Given the description of an element on the screen output the (x, y) to click on. 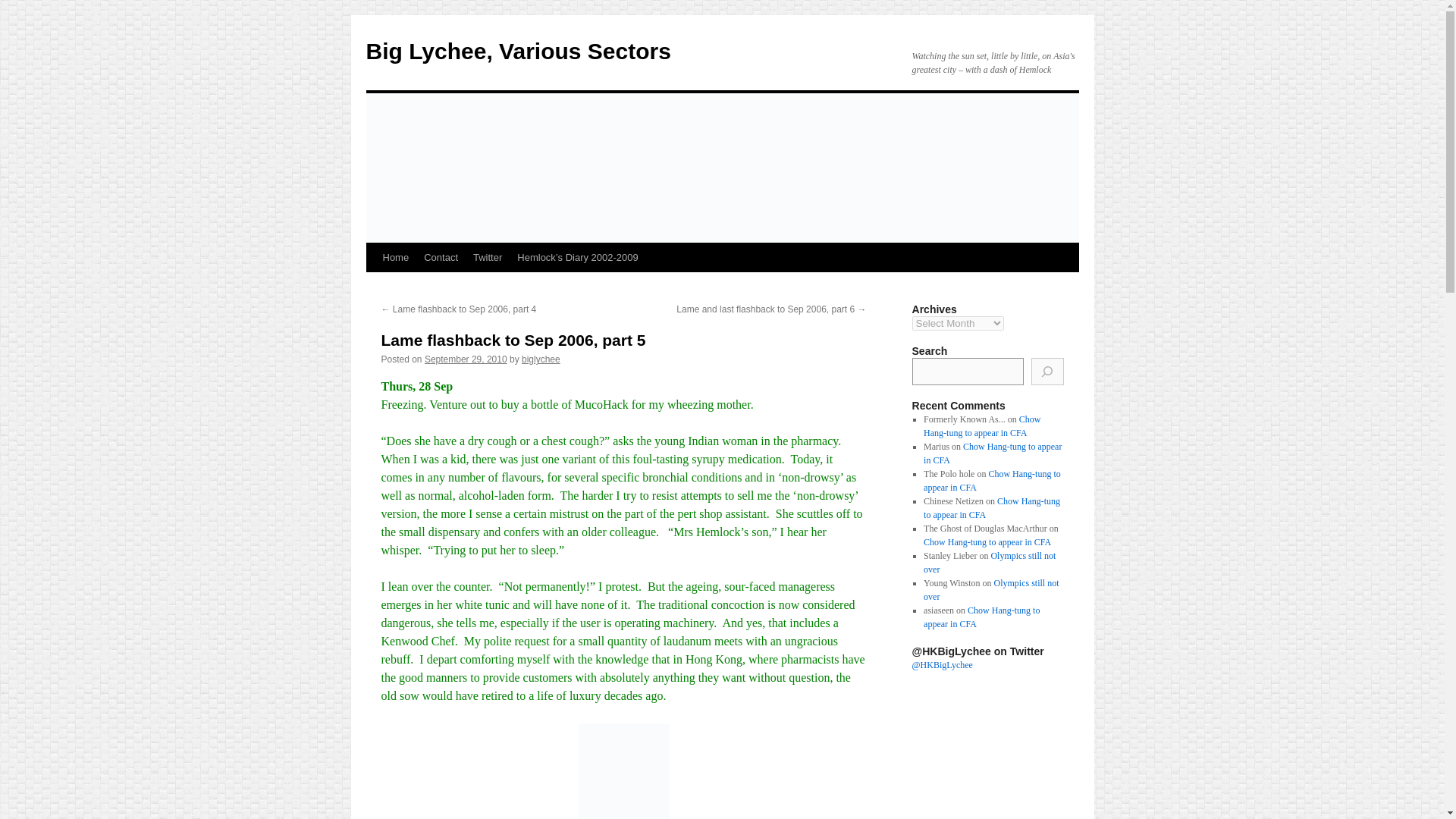
10:08 am (465, 358)
Chow Hang-tung to appear in CFA (992, 480)
Olympics still not over (989, 562)
Twitter (487, 257)
Chow Hang-tung to appear in CFA (982, 426)
Olympics still not over (990, 589)
Big Lychee, Various Sectors (517, 50)
September 29, 2010 (465, 358)
biglychee (540, 358)
Home (395, 257)
Contact (440, 257)
Chow Hang-tung to appear in CFA (981, 617)
Chow Hang-tung to appear in CFA (992, 453)
View all posts by biglychee (540, 358)
Chow Hang-tung to appear in CFA (987, 542)
